Given the description of an element on the screen output the (x, y) to click on. 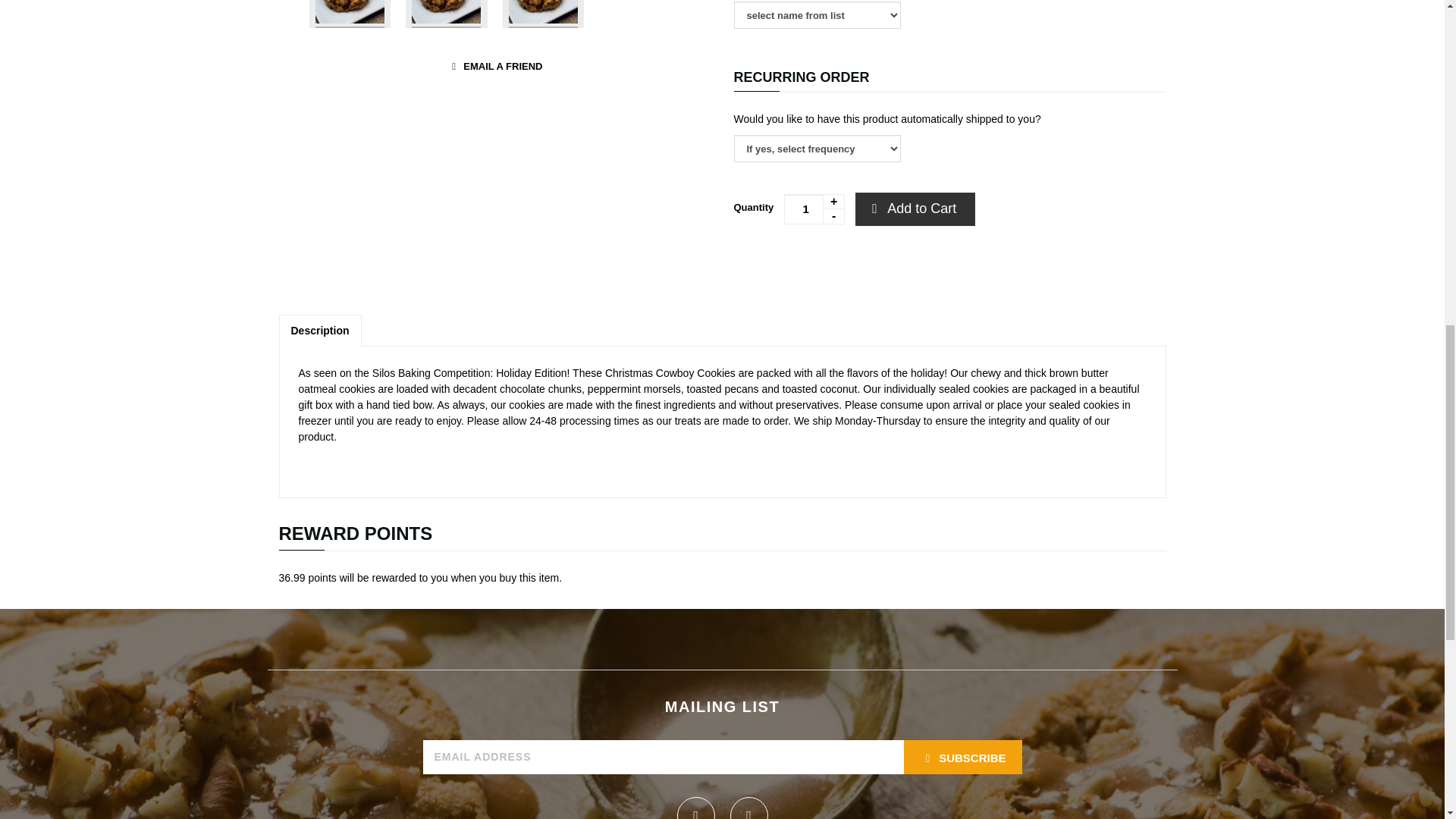
Thumbnail (446, 14)
Thumbnail (542, 14)
EMAIL A FRIEND (494, 66)
1 (814, 209)
Thumbnail (349, 14)
